Given the description of an element on the screen output the (x, y) to click on. 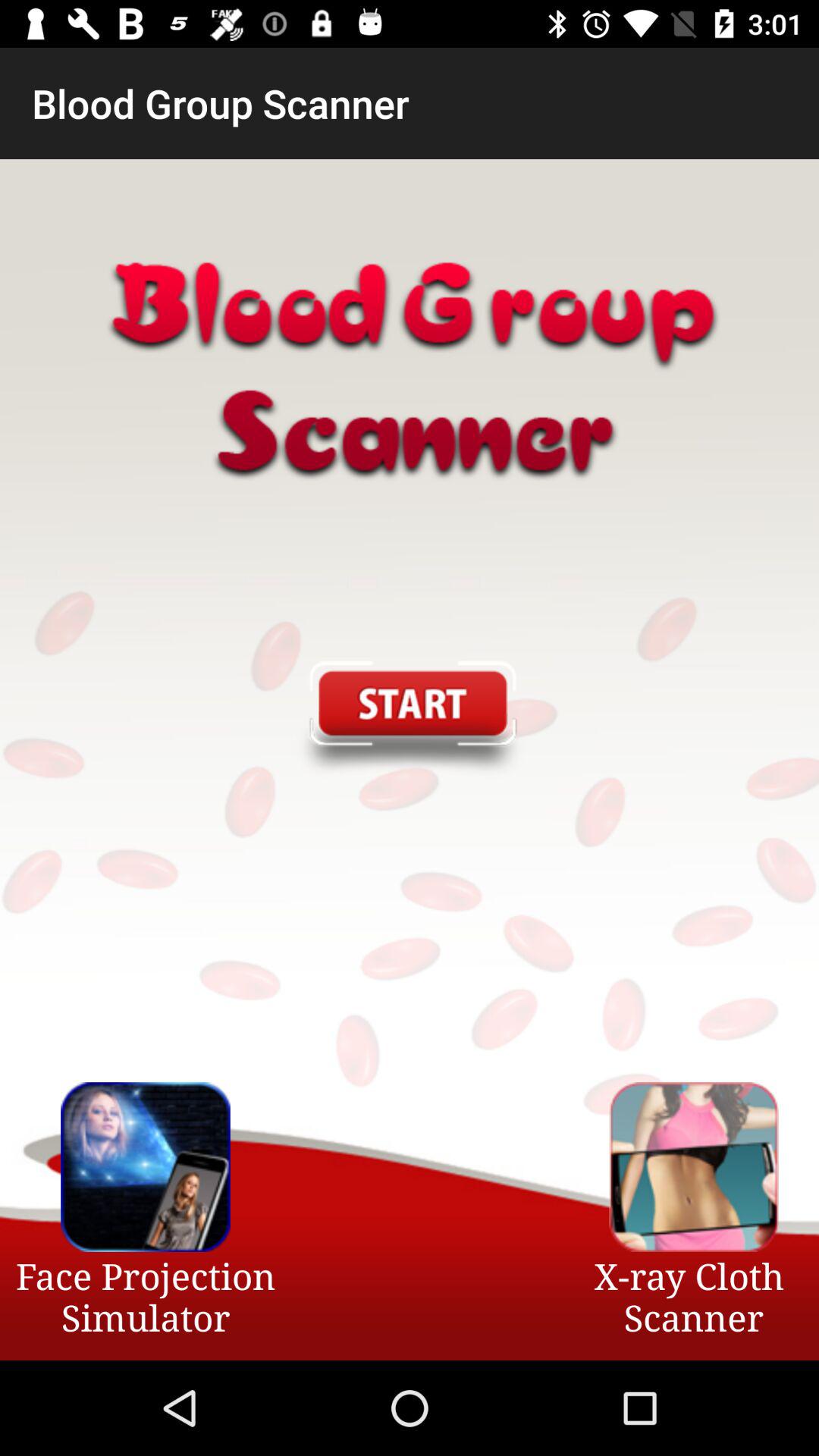
turn off app above face projection
simulator app (409, 719)
